Given the description of an element on the screen output the (x, y) to click on. 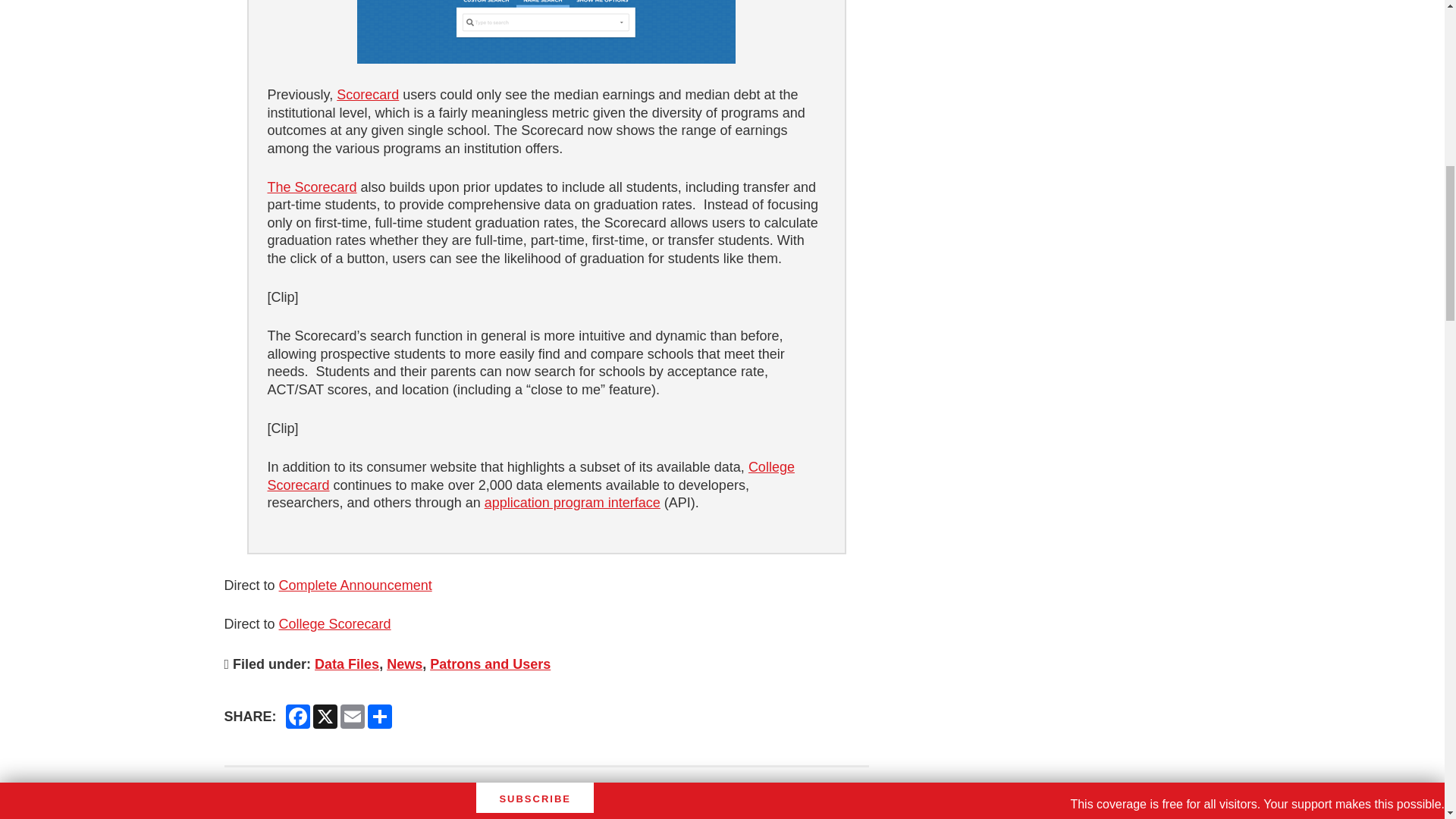
3rd party ad content (1106, 91)
